Given the description of an element on the screen output the (x, y) to click on. 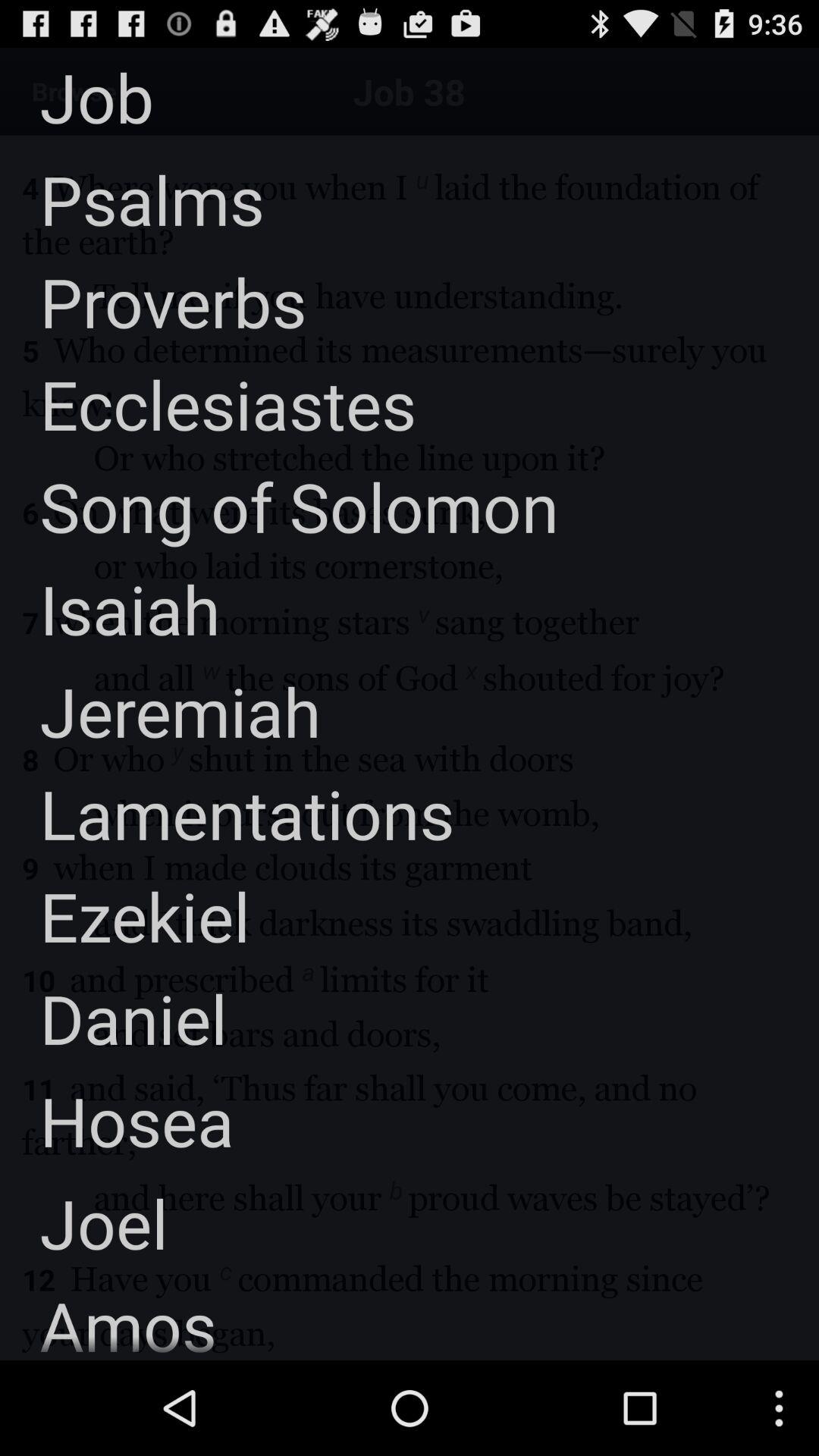
jump to the ecclesiastes (208, 403)
